Given the description of an element on the screen output the (x, y) to click on. 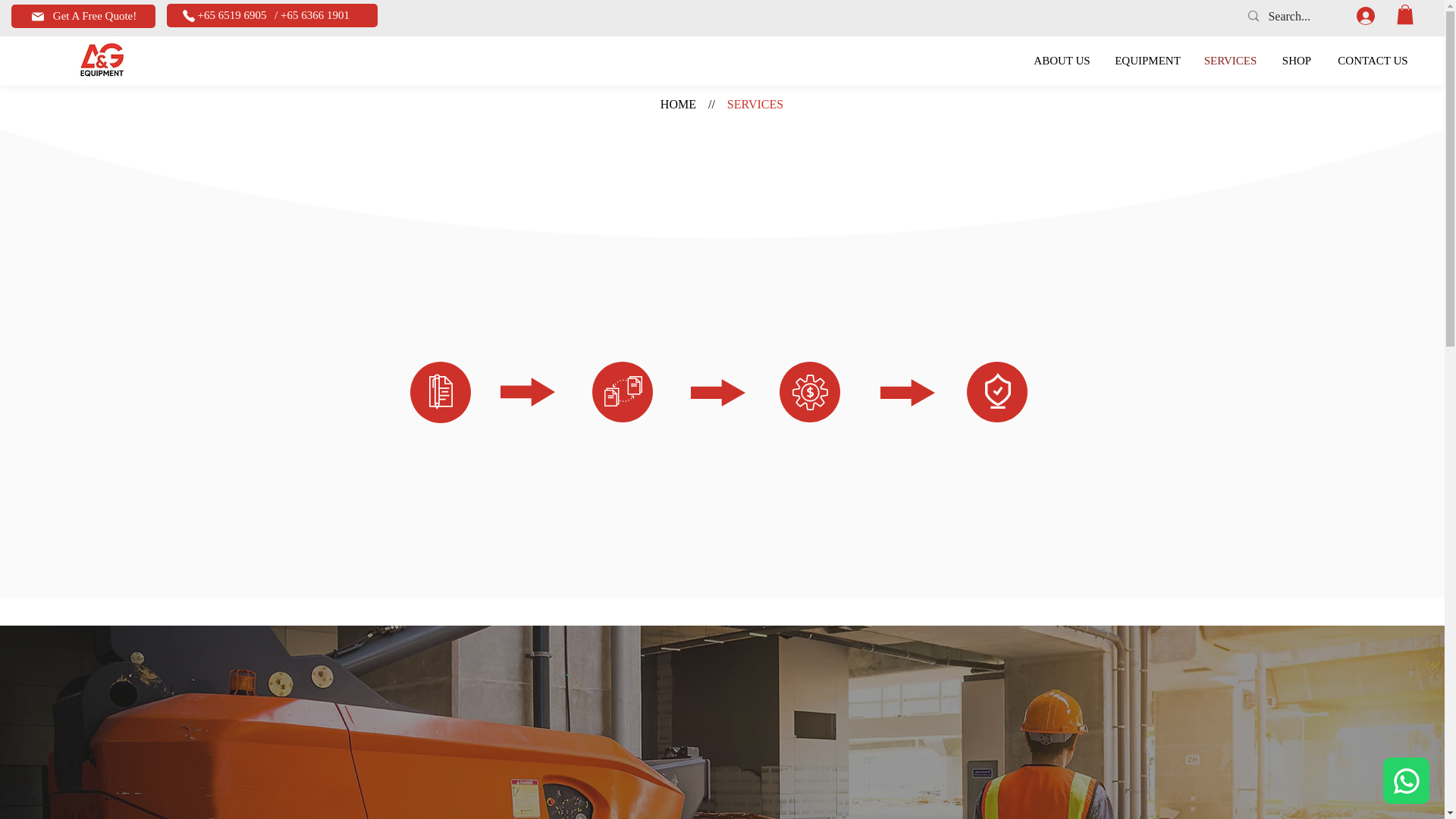
SHOP (1296, 60)
SERVICES (754, 103)
HOME (678, 103)
ABOUT US (1061, 60)
Get A Free Quote! (83, 15)
CONTACT US (1372, 60)
. (1372, 15)
SERVICES (1230, 60)
EQUIPMENT (1147, 60)
